Given the description of an element on the screen output the (x, y) to click on. 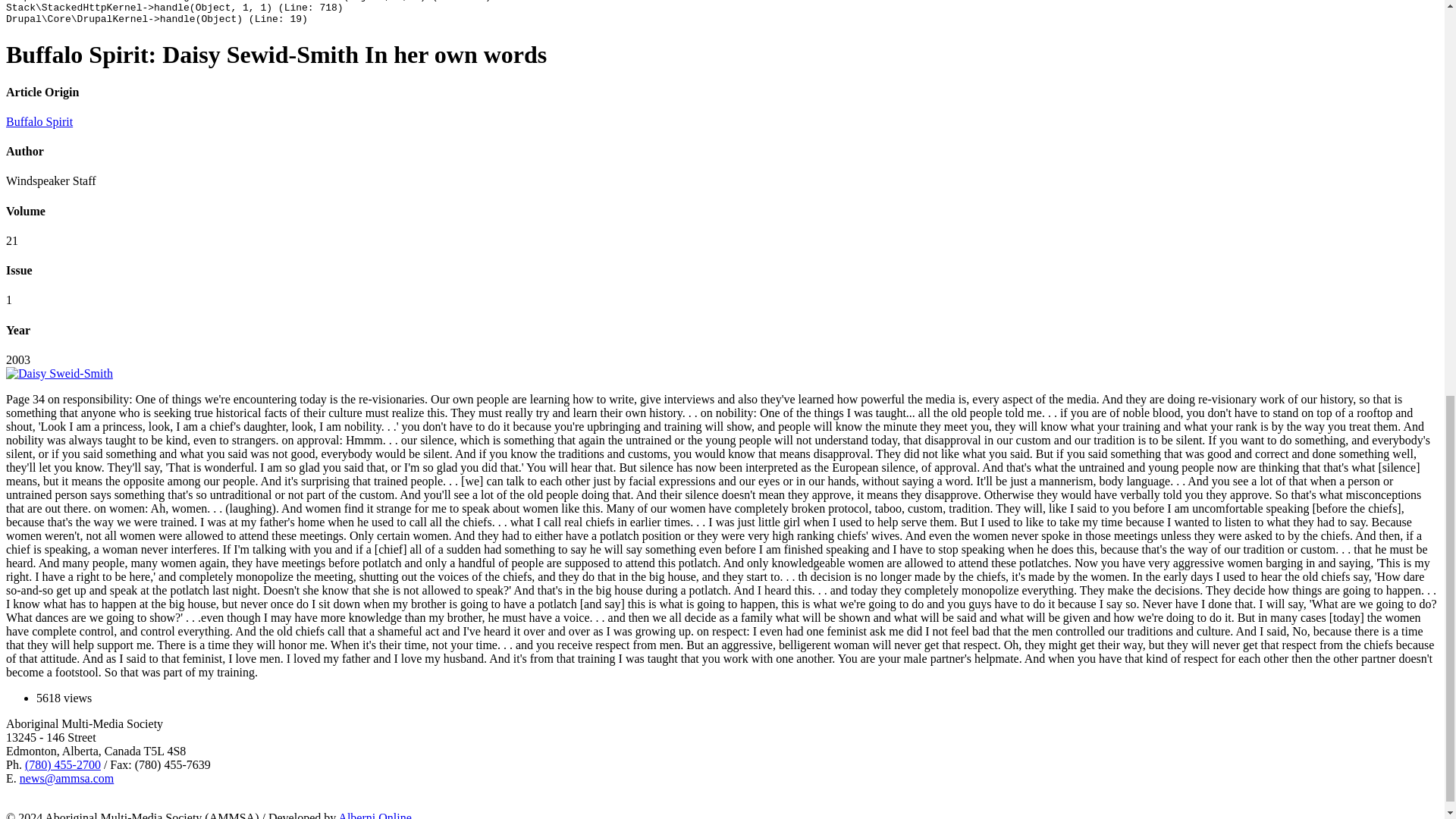
Email AMMSA (66, 778)
Phone AMMSA (62, 764)
Daisy Sweid-Smith (59, 373)
Buffalo Spirit (38, 121)
